Given the description of an element on the screen output the (x, y) to click on. 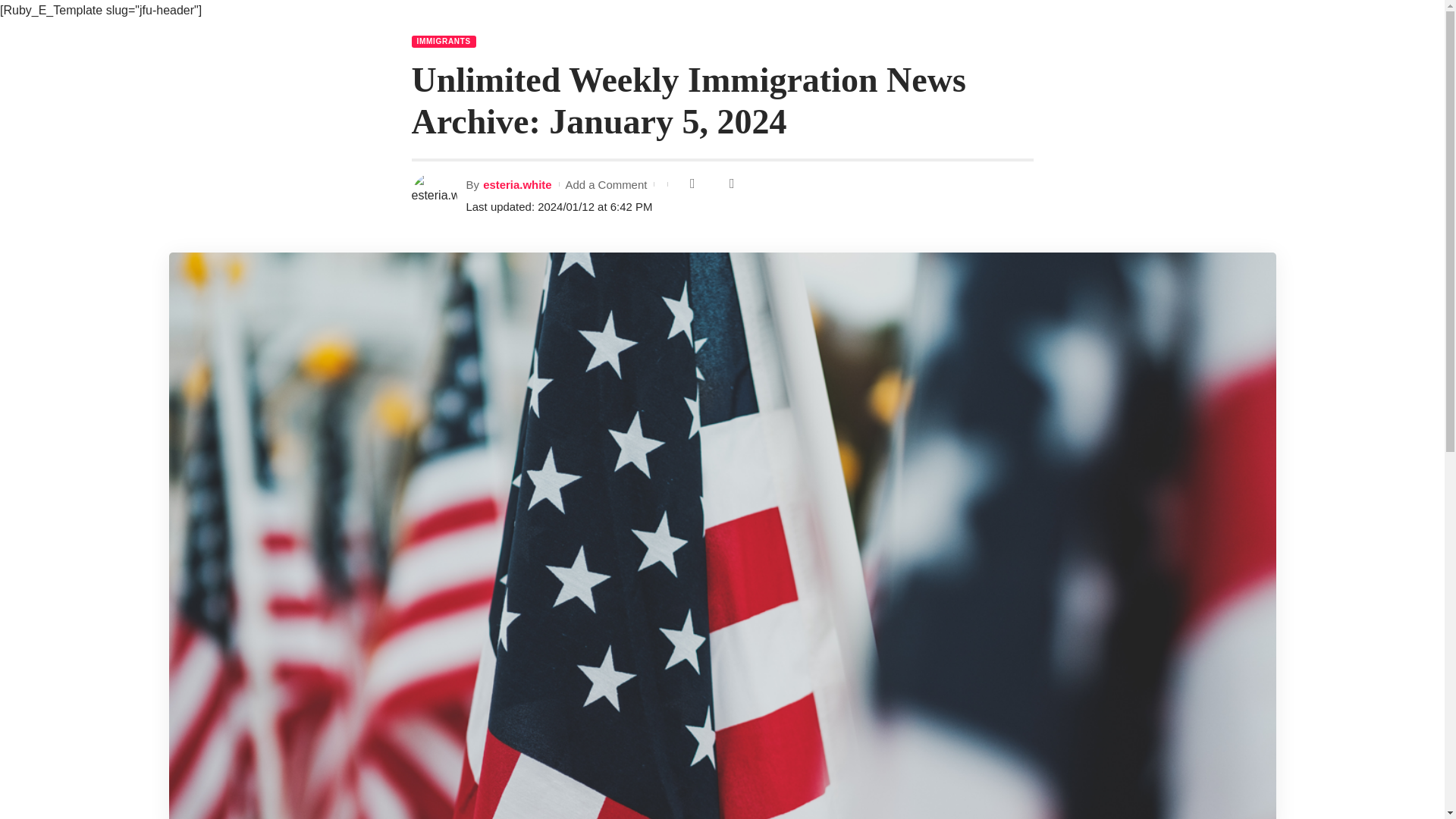
IMMIGRANTS (443, 41)
esteria.white (517, 184)
Add a Comment (605, 184)
